Given the description of an element on the screen output the (x, y) to click on. 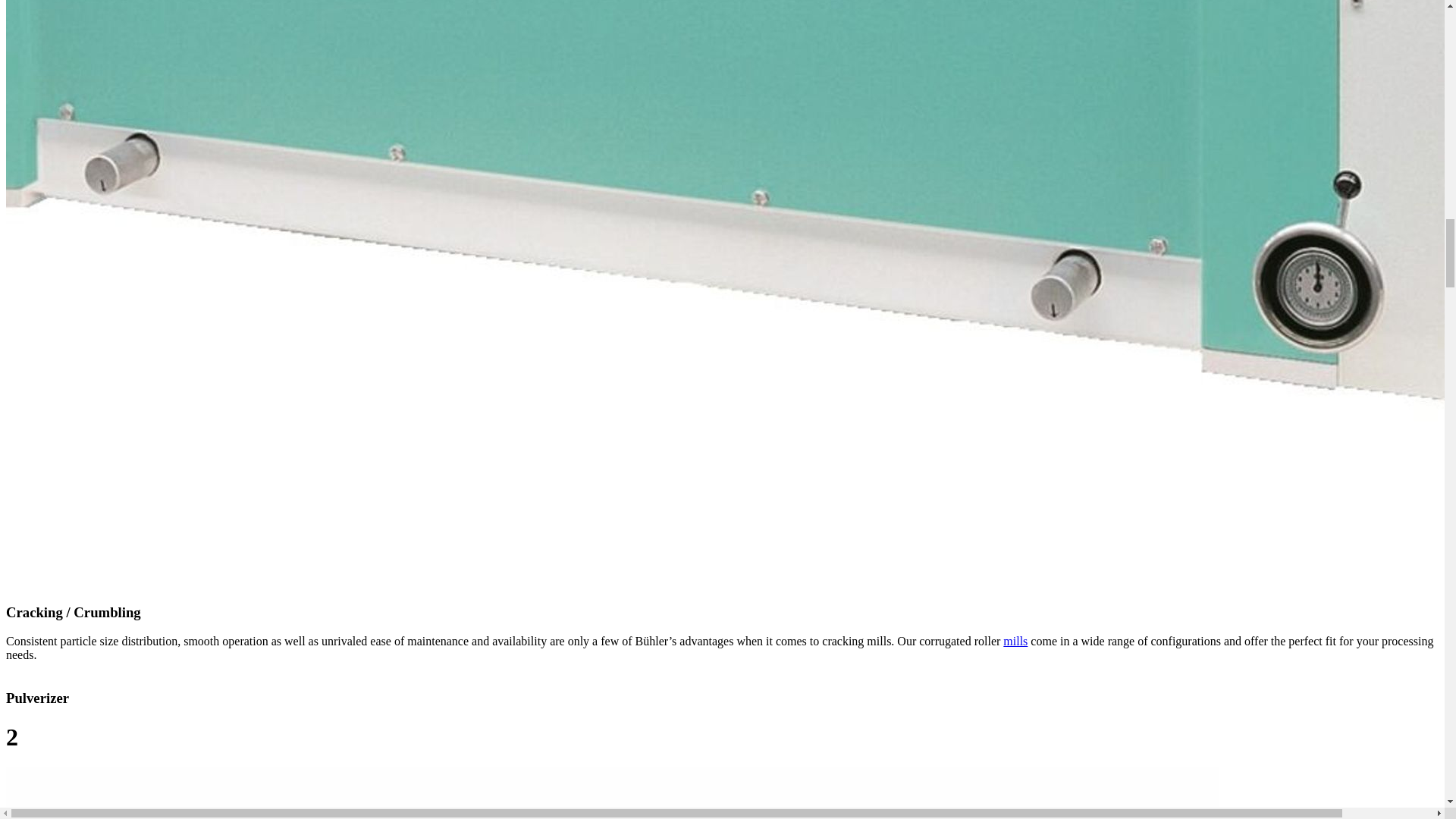
mills (1015, 640)
